Given the description of an element on the screen output the (x, y) to click on. 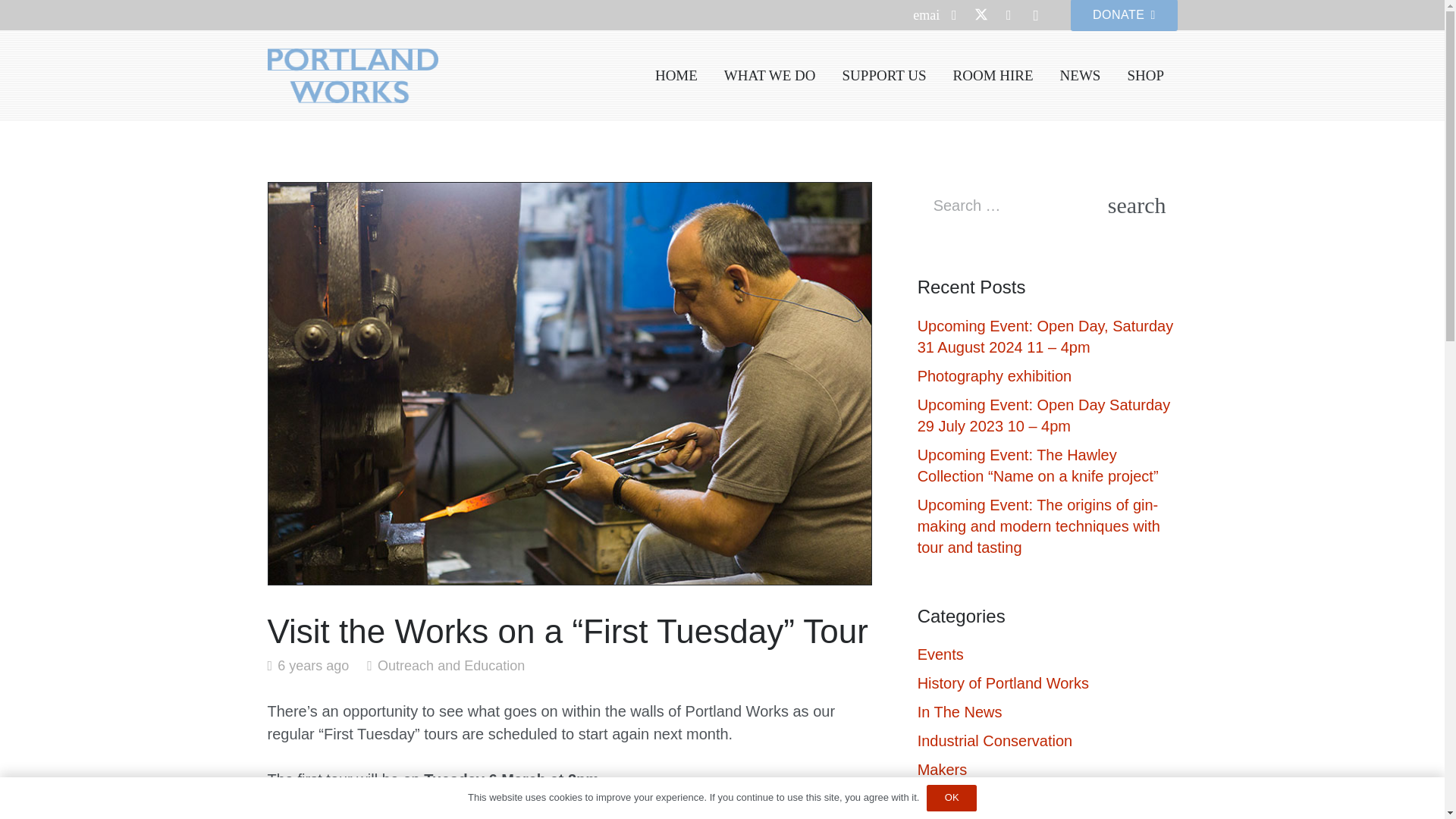
Facebook (954, 14)
DONATE (1123, 15)
ROOM HIRE (992, 75)
Twitter (981, 14)
Instagram (1035, 14)
HOME (676, 75)
WHAT WE DO (769, 75)
LinkedIn (1008, 14)
SUPPORT US (883, 75)
Outreach and Education (450, 665)
Email (926, 14)
NEWS (1079, 75)
SHOP (1145, 75)
